Given the description of an element on the screen output the (x, y) to click on. 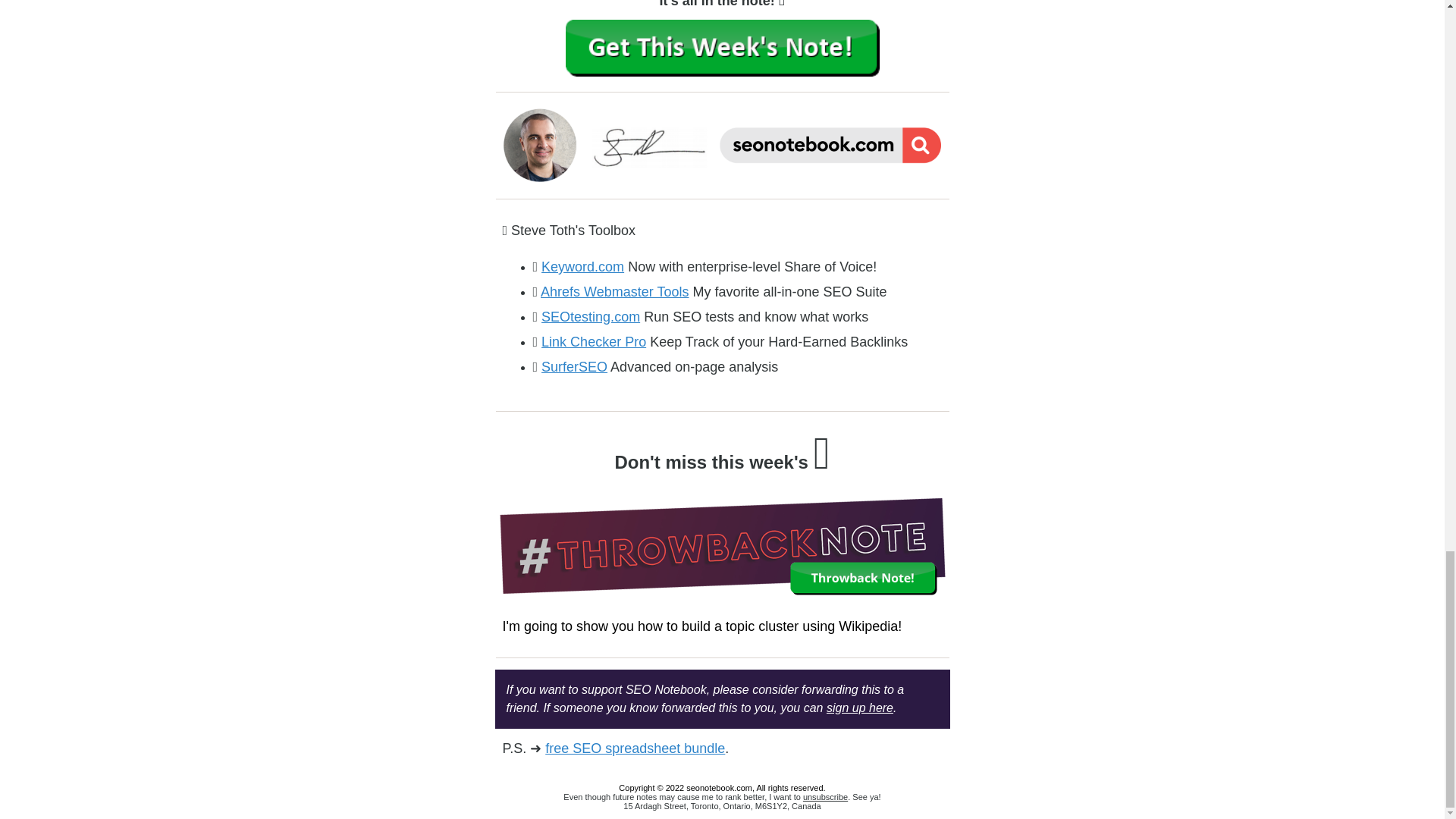
free SEO spreadsheet bundle (634, 748)
unsubscribe (825, 796)
SurferSEO (574, 366)
sign up here (860, 707)
Keyword.com (582, 266)
SEOtesting.com (590, 316)
Link Checker Pro (593, 341)
Ahrefs Webmaster Tools (614, 291)
seonotebook.com (718, 787)
